Given the description of an element on the screen output the (x, y) to click on. 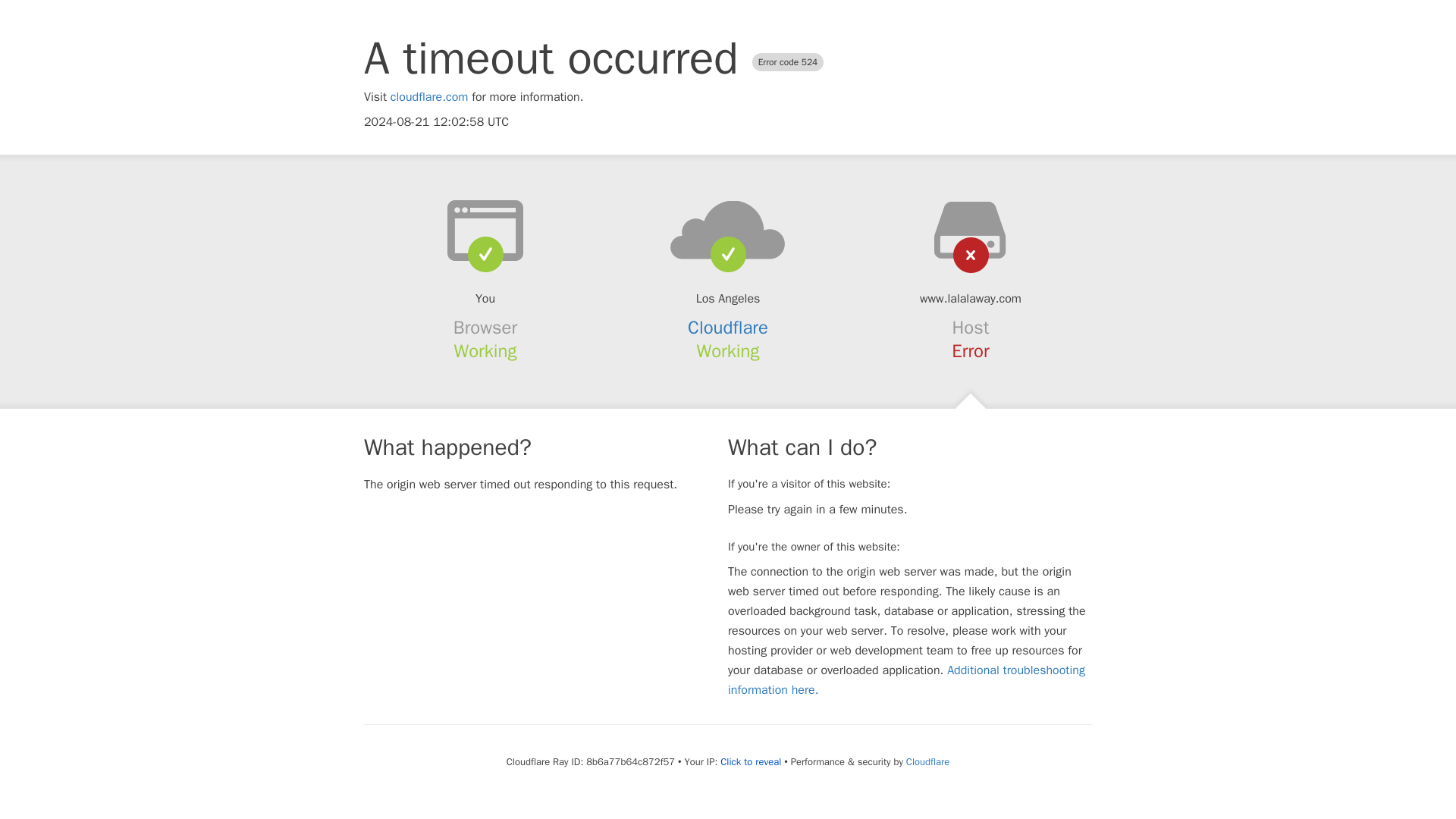
cloudflare.com (429, 96)
Cloudflare (927, 761)
Cloudflare (727, 327)
Additional troubleshooting information here. (906, 679)
Click to reveal (750, 762)
